Given the description of an element on the screen output the (x, y) to click on. 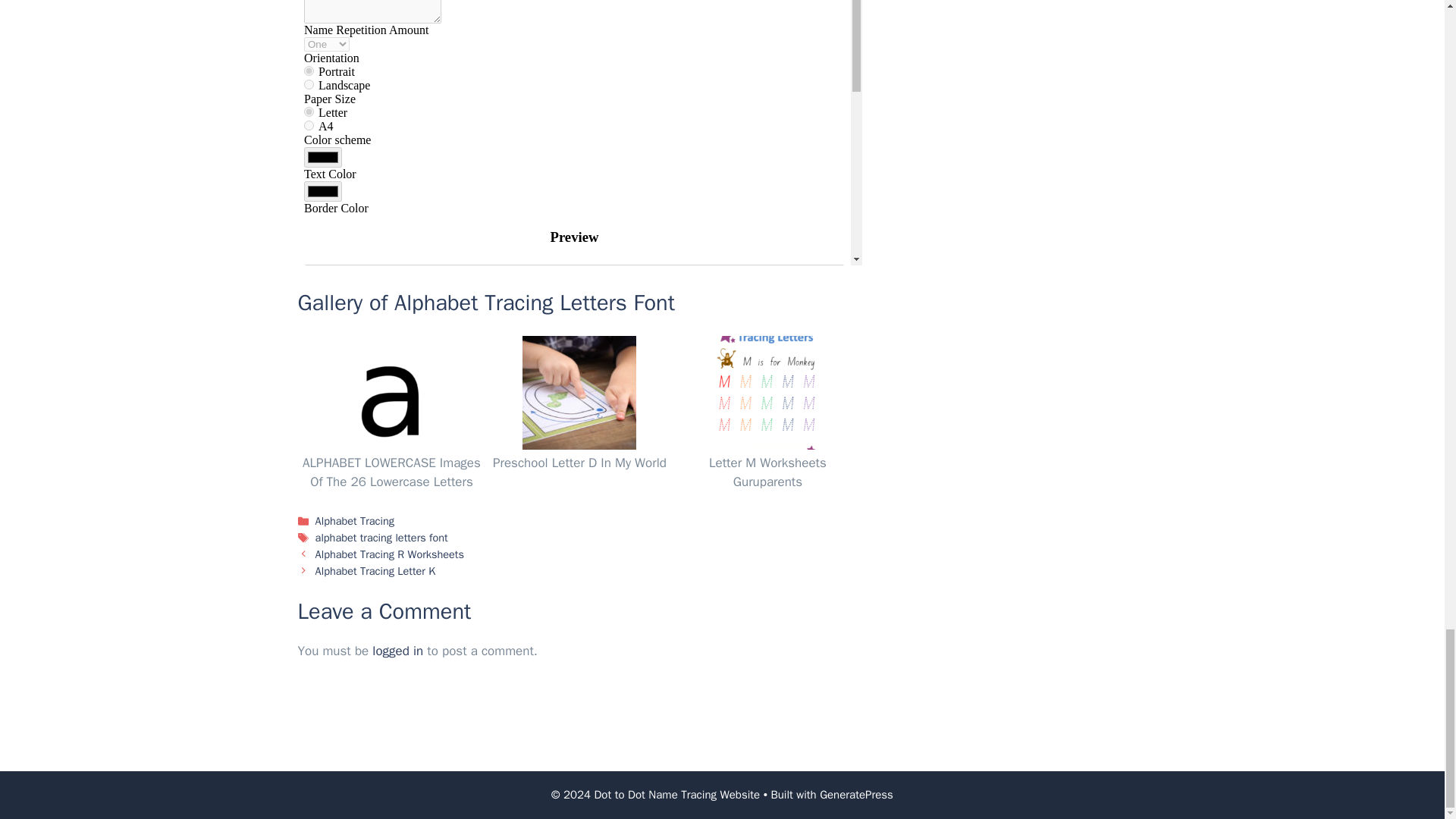
Alphabet Tracing R Worksheets (389, 554)
Alphabet Tracing Letter K (375, 570)
Alphabet Tracing (354, 520)
GeneratePress (856, 794)
logged in (397, 650)
alphabet tracing letters font (381, 537)
